Given the description of an element on the screen output the (x, y) to click on. 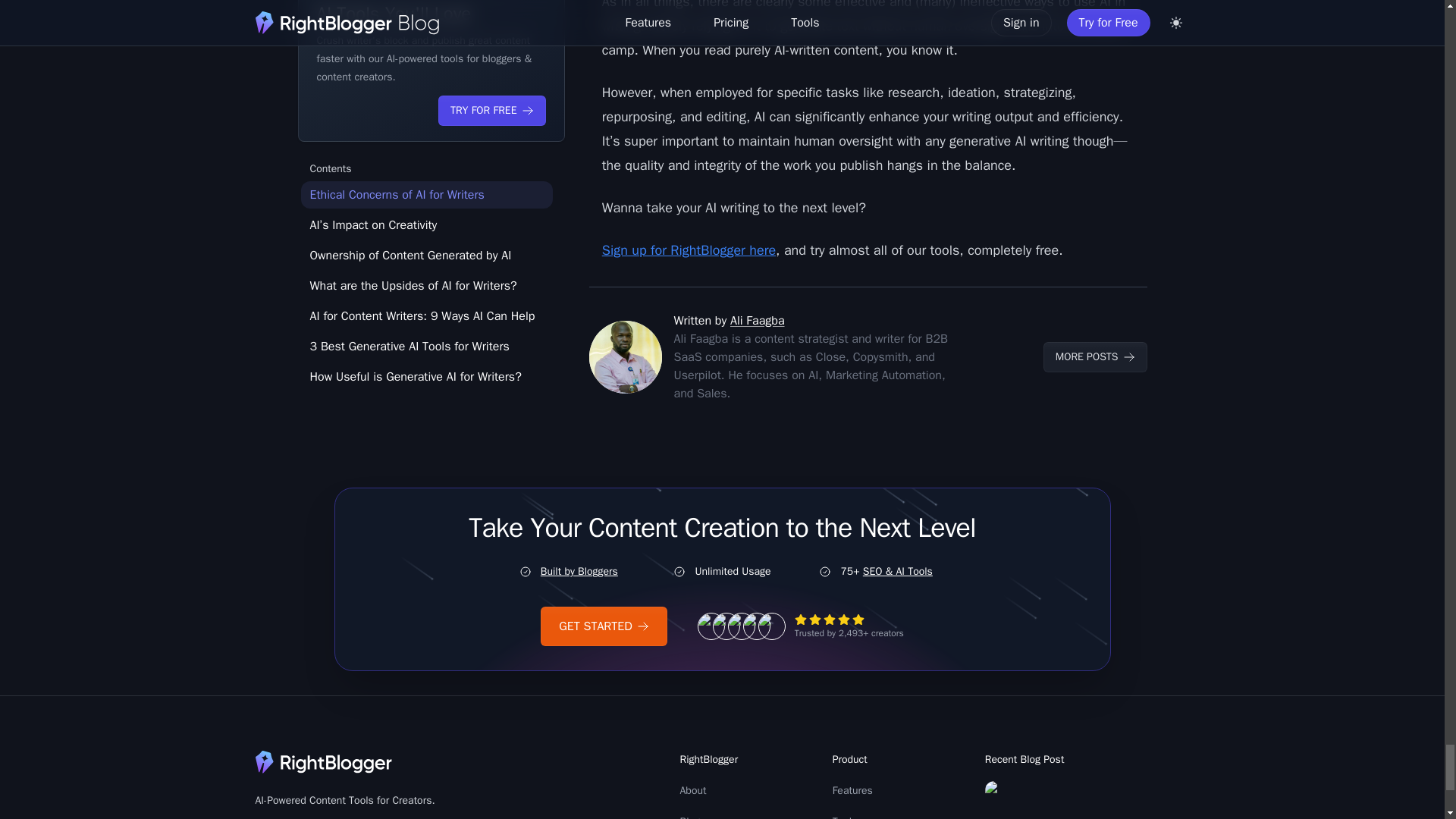
RightBlogger Blog (1095, 357)
